Given the description of an element on the screen output the (x, y) to click on. 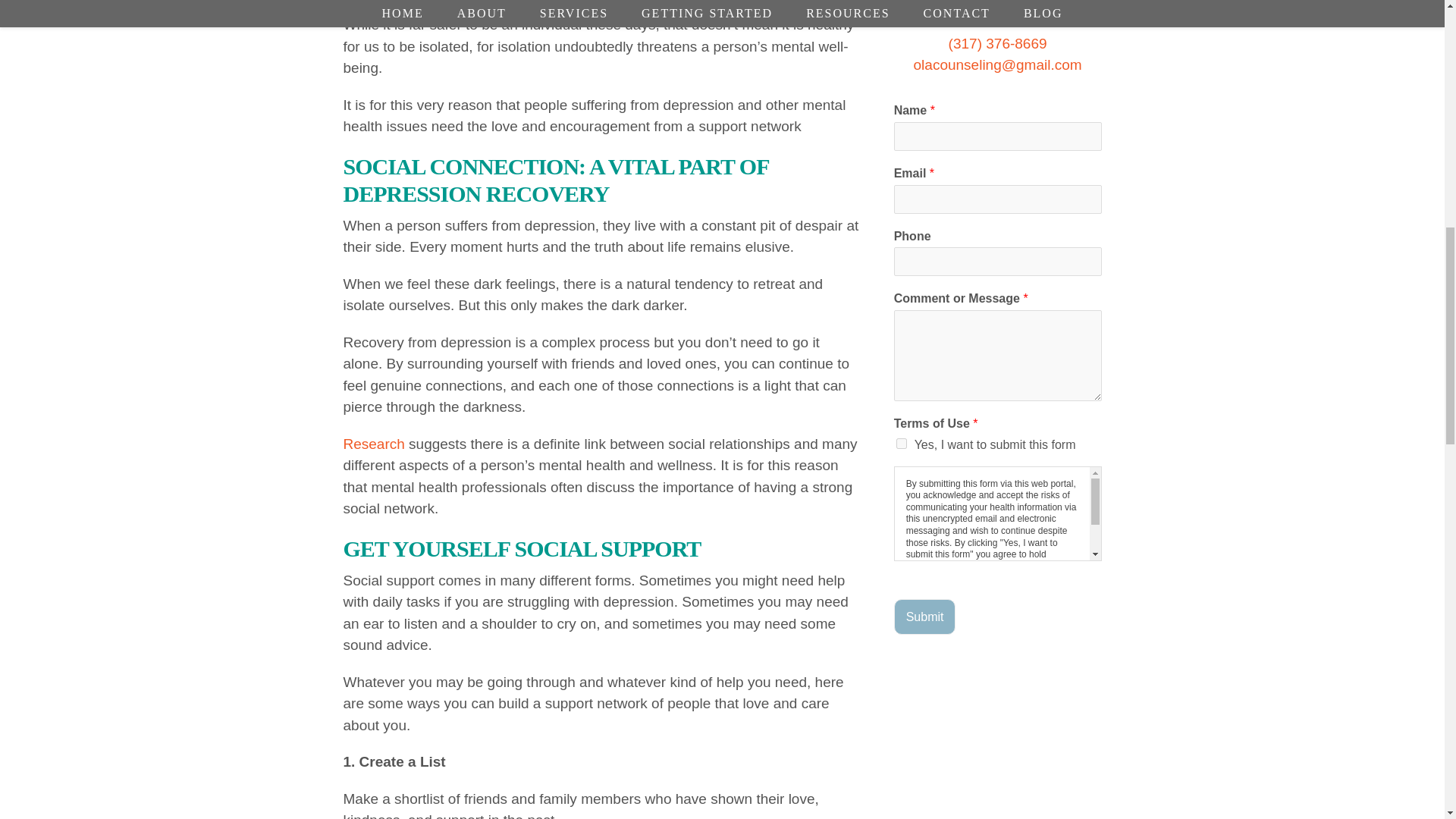
Research (373, 443)
Yes, I want to submit this form (901, 443)
Submit (924, 616)
Ola Smith, LMFT (997, 10)
